Given the description of an element on the screen output the (x, y) to click on. 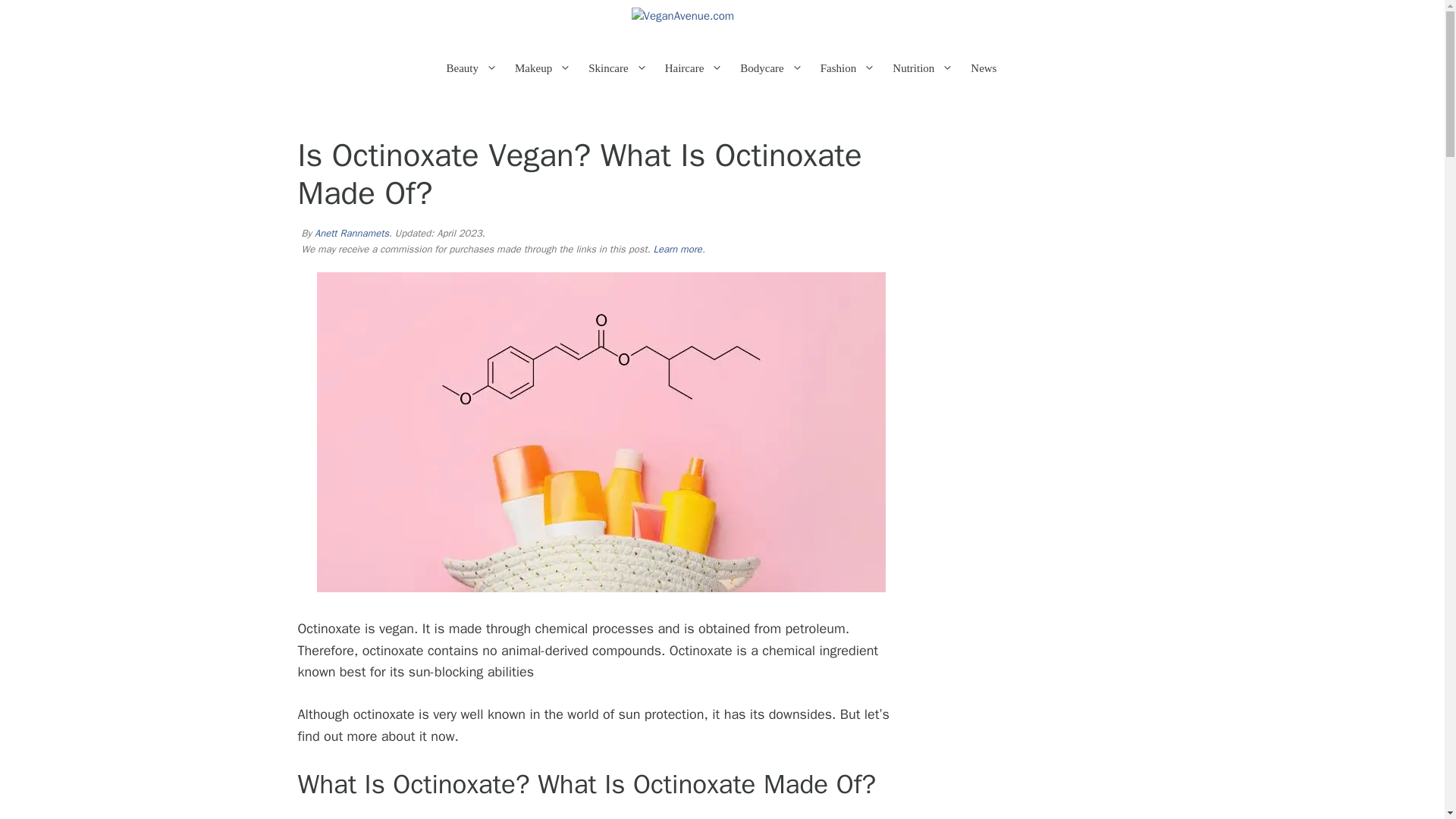
Makeup (549, 67)
VeganAvenue.com (721, 22)
Beauty (478, 67)
